Given the description of an element on the screen output the (x, y) to click on. 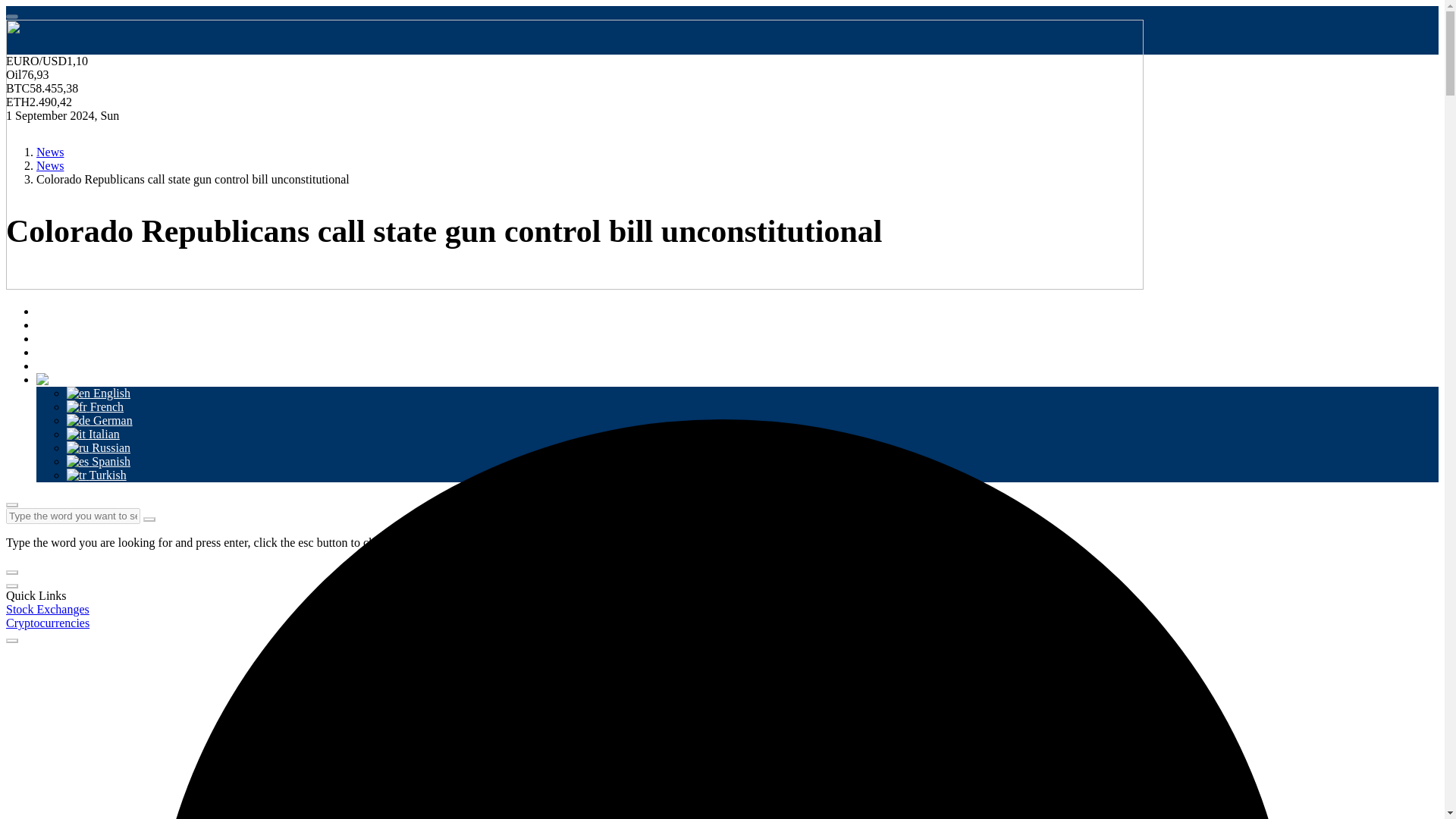
French (94, 398)
News (50, 316)
Home (50, 303)
Spanish (98, 452)
Sports (51, 330)
Italian (92, 425)
English (98, 385)
Health (52, 344)
Turkish (96, 466)
